Given the description of an element on the screen output the (x, y) to click on. 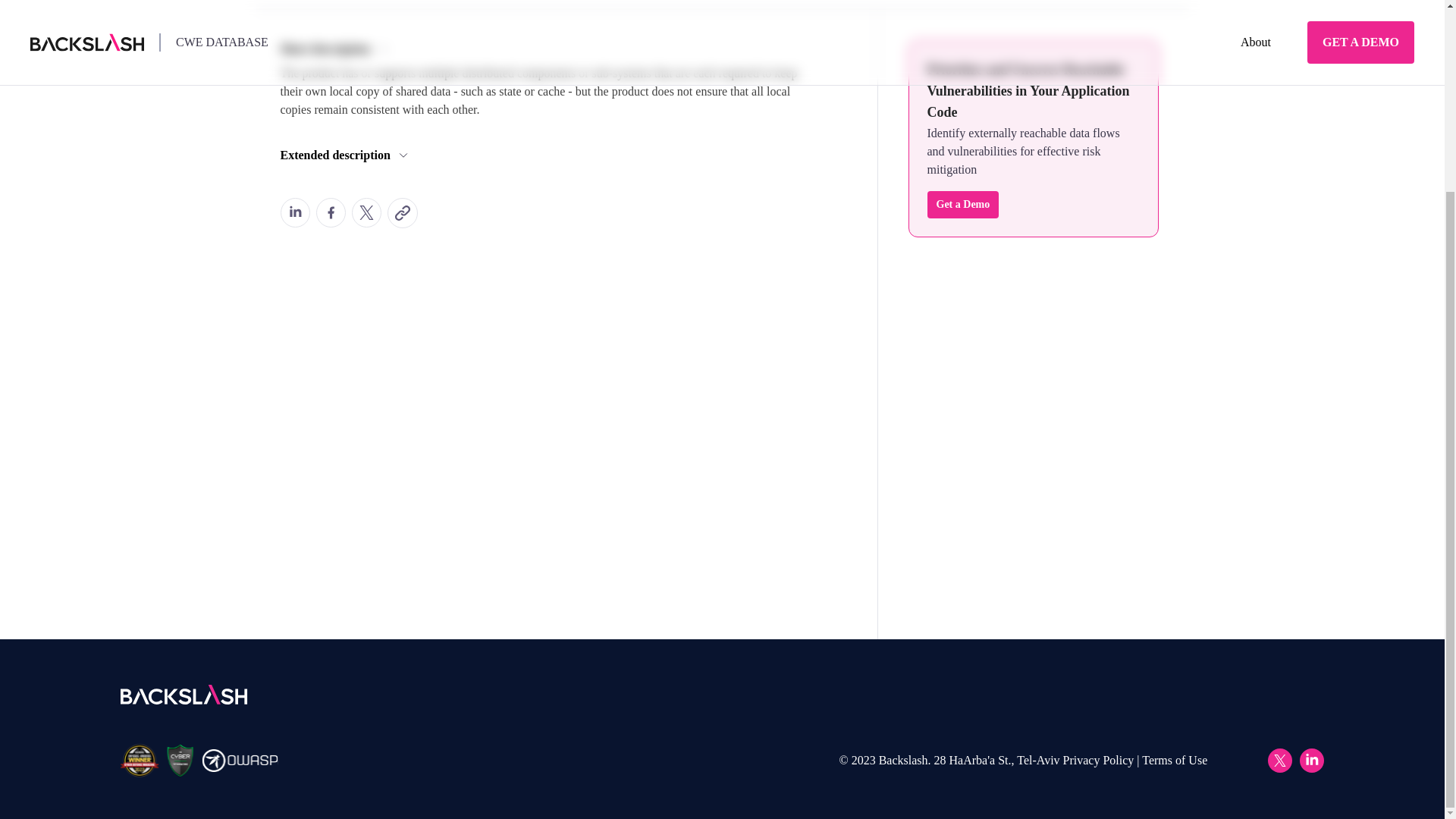
Terms of Use (1174, 759)
Get a Demo (962, 204)
Privacy Policy (1098, 759)
